Given the description of an element on the screen output the (x, y) to click on. 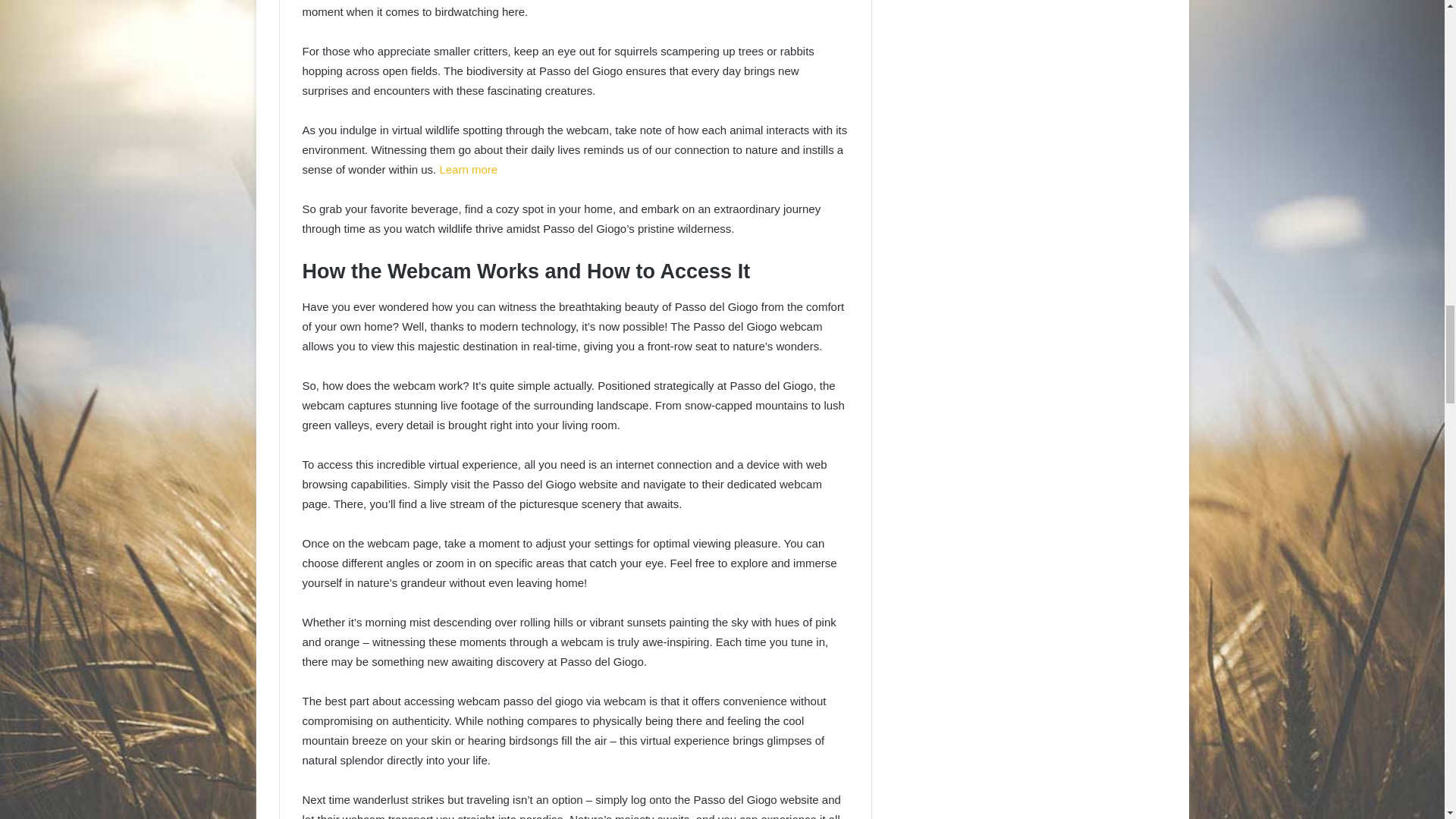
Learn more (468, 169)
